Given the description of an element on the screen output the (x, y) to click on. 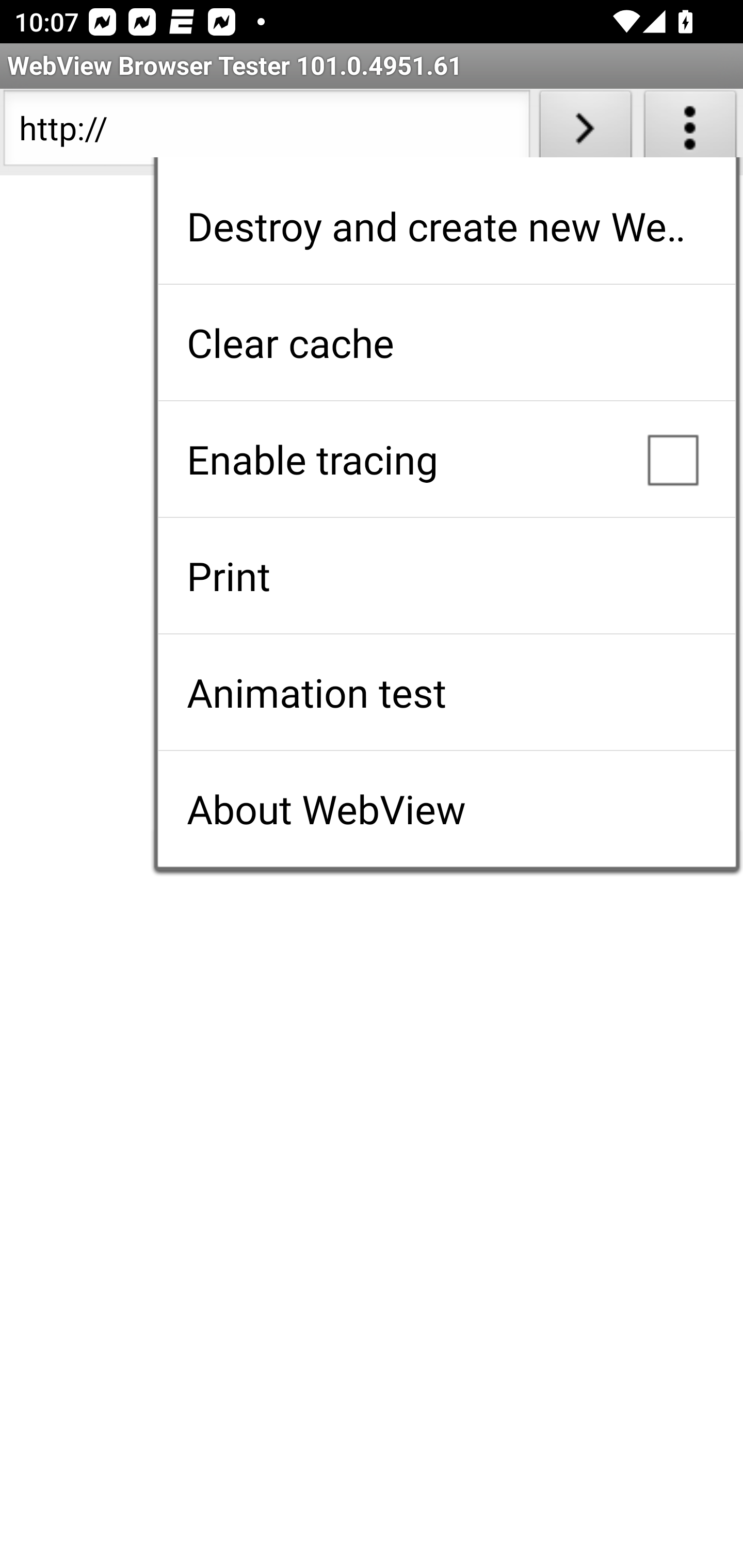
Destroy and create new WebView (446, 225)
Clear cache (446, 342)
Enable tracing (446, 459)
Print (446, 575)
Animation test (446, 692)
About WebView (446, 809)
